Given the description of an element on the screen output the (x, y) to click on. 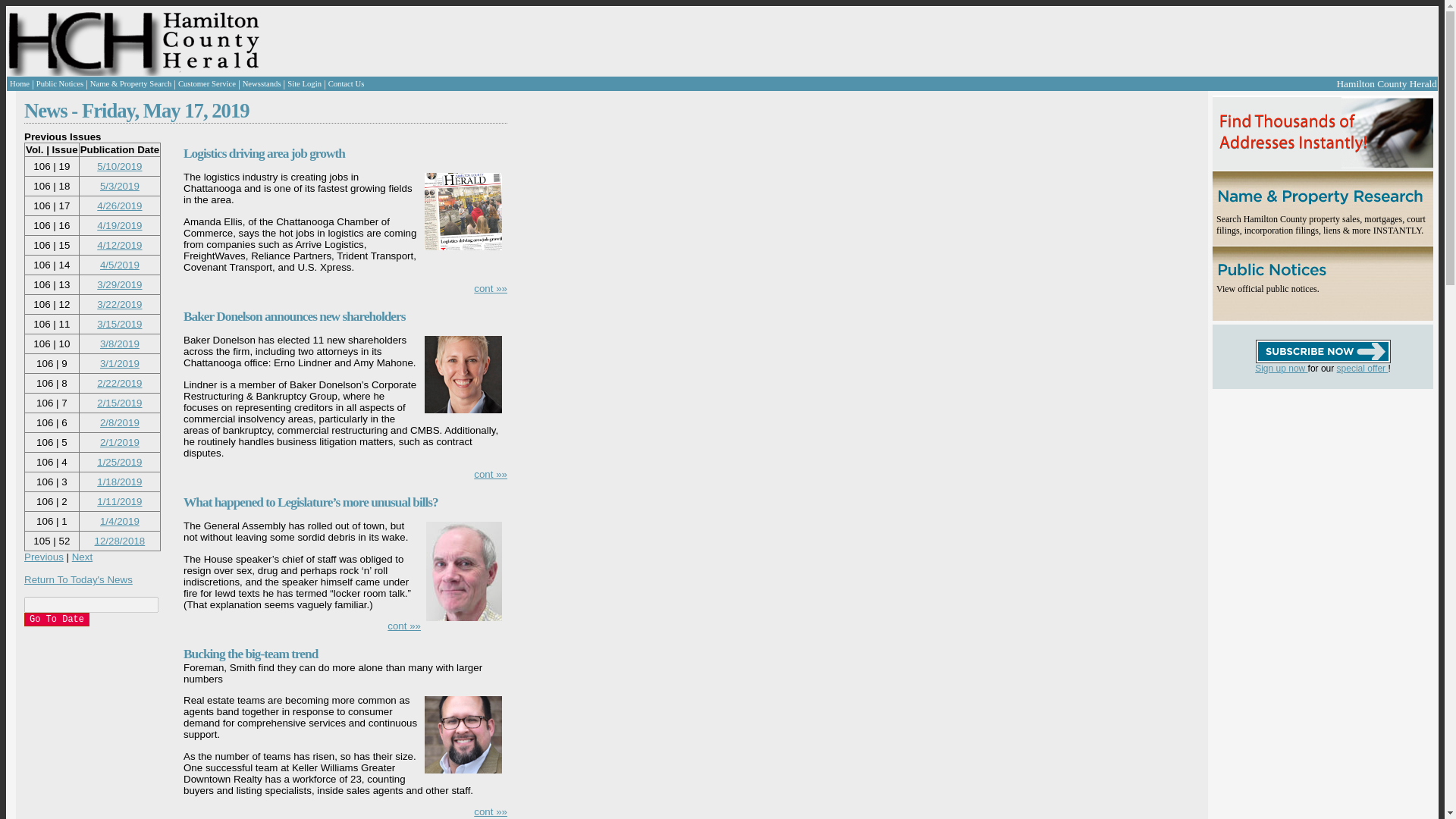
Customer Service (206, 83)
Baker Donelson announces new shareholders (293, 316)
Return To Today's News (78, 579)
Logistics driving area job growth (264, 153)
Contact Us (347, 83)
Go To Date (56, 619)
Home (19, 83)
Public Notices (59, 83)
3rd party ad content (579, 41)
3rd party ad content (1302, 483)
Go To Date (56, 619)
Previous (44, 556)
Site Login (303, 83)
Next (82, 556)
Newsstands (262, 83)
